Given the description of an element on the screen output the (x, y) to click on. 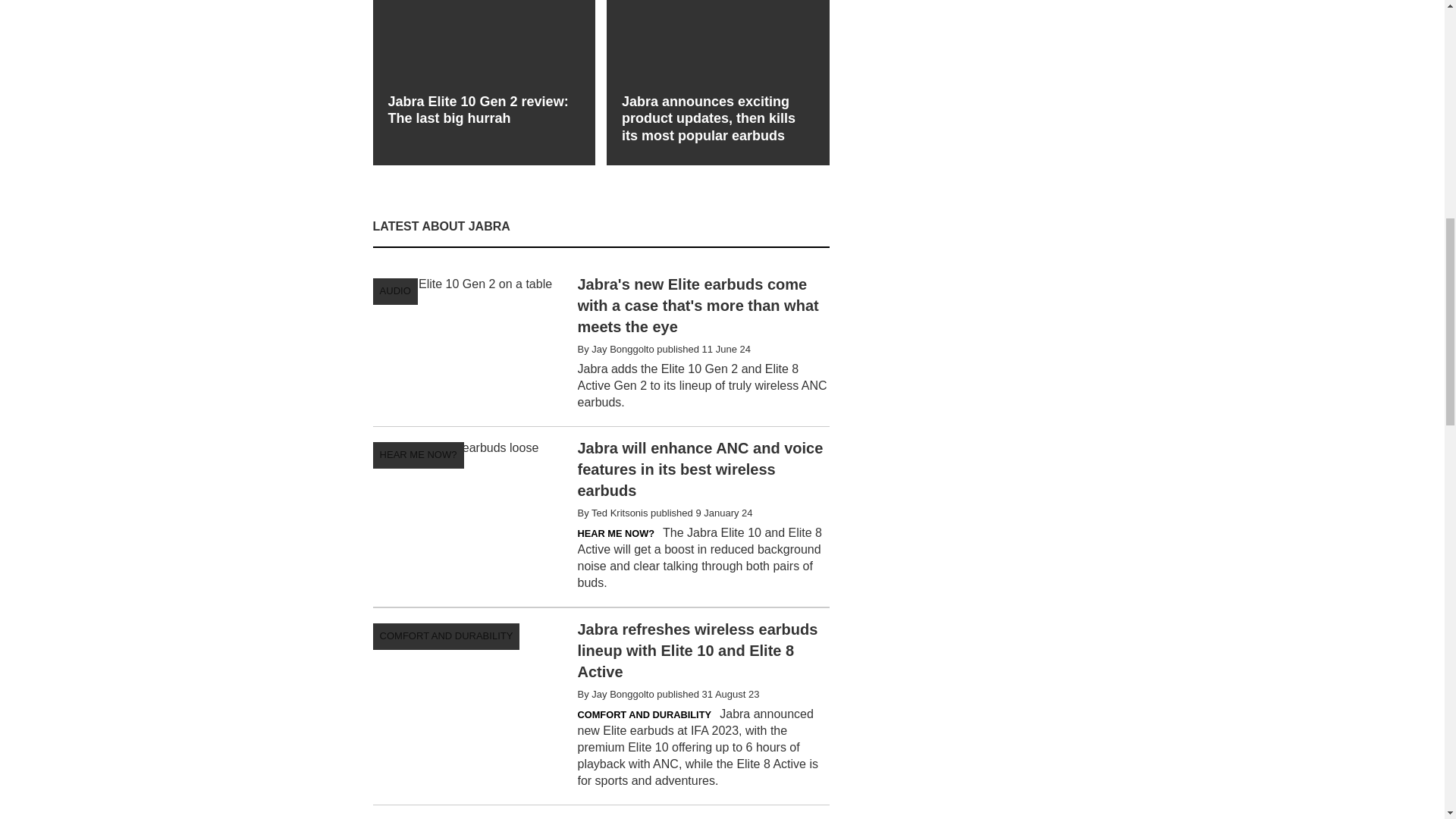
Jabra Elite 10 Gen 2 review: The last big hurrah (483, 68)
